Given the description of an element on the screen output the (x, y) to click on. 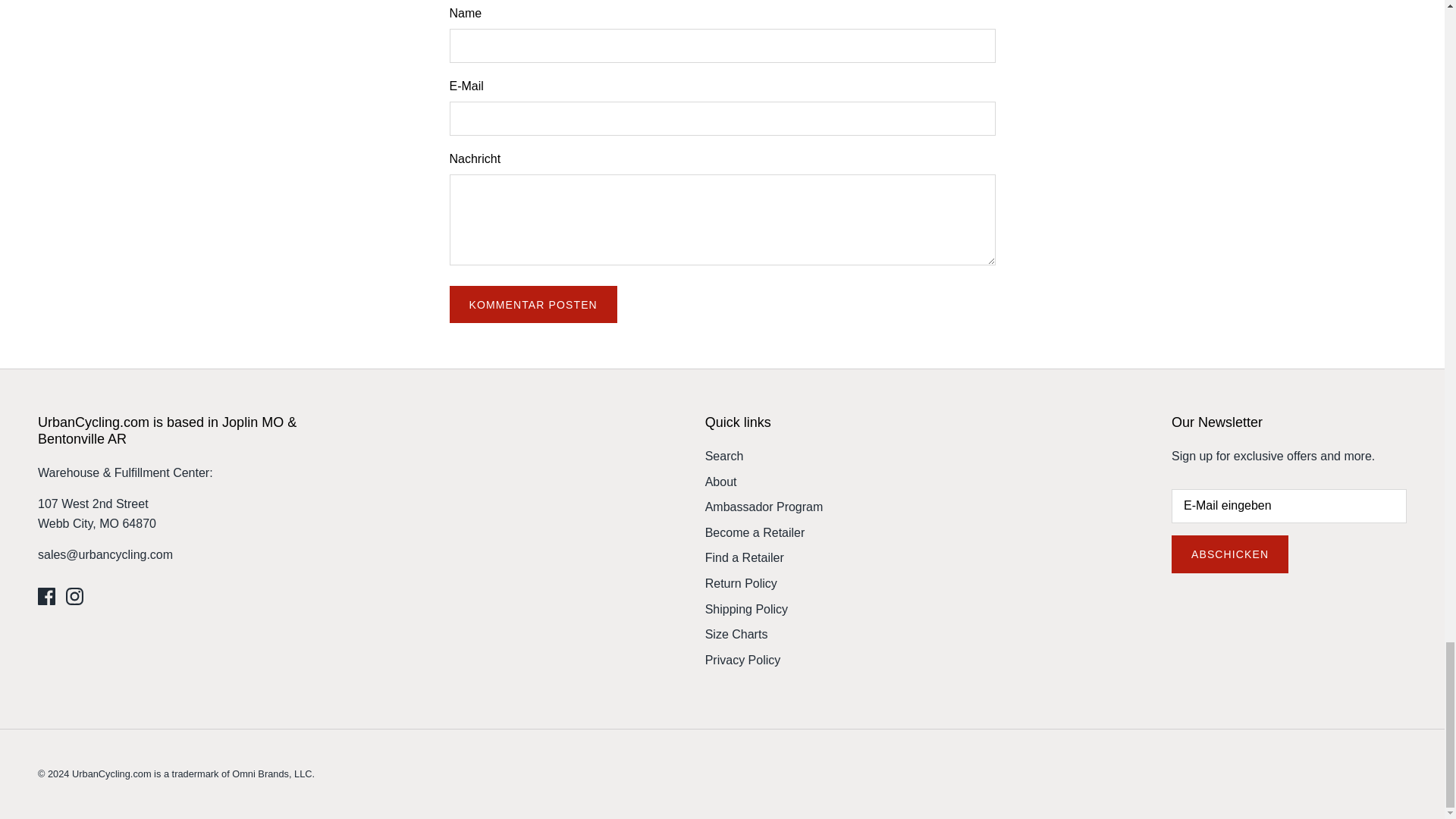
Instagram (73, 596)
Facebook (46, 596)
Kommentar posten (531, 304)
